Given the description of an element on the screen output the (x, y) to click on. 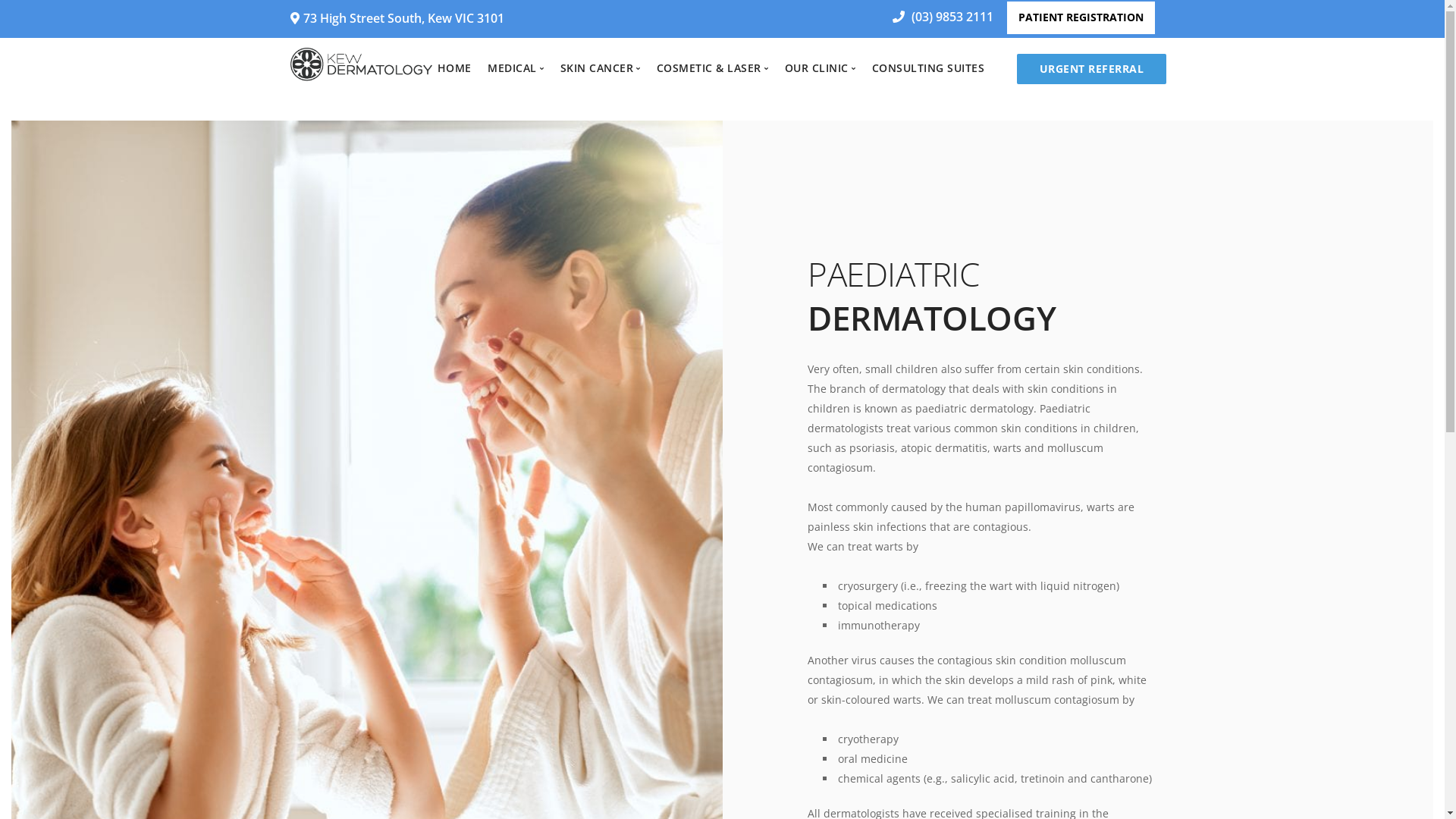
COSMETIC & LASER Element type: text (712, 67)
CONSULTING SUITES Element type: text (928, 67)
HOME Element type: text (454, 67)
MEDICAL Element type: text (515, 67)
OUR CLINIC Element type: text (820, 67)
SKIN CANCER Element type: text (600, 67)
(03) 9853 2111 Element type: text (937, 16)
PATIENT REGISTRATION Element type: text (1080, 17)
URGENT REFERRAL Element type: text (1090, 68)
